Given the description of an element on the screen output the (x, y) to click on. 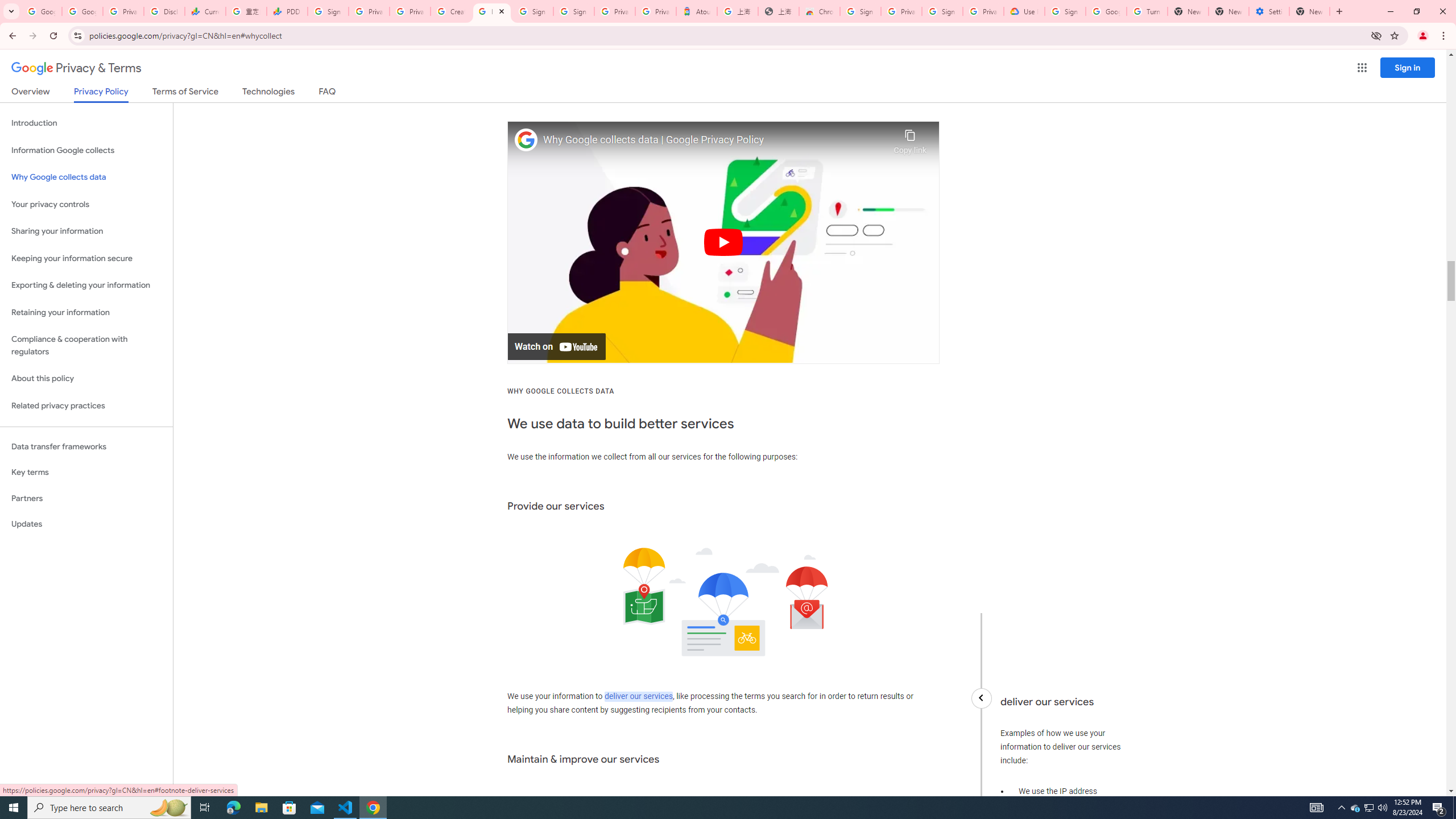
Create your Google Account (450, 11)
Google Account Help (1105, 11)
deliver our services (638, 696)
Privacy Checkup (409, 11)
Photo image of Google (526, 139)
